Given the description of an element on the screen output the (x, y) to click on. 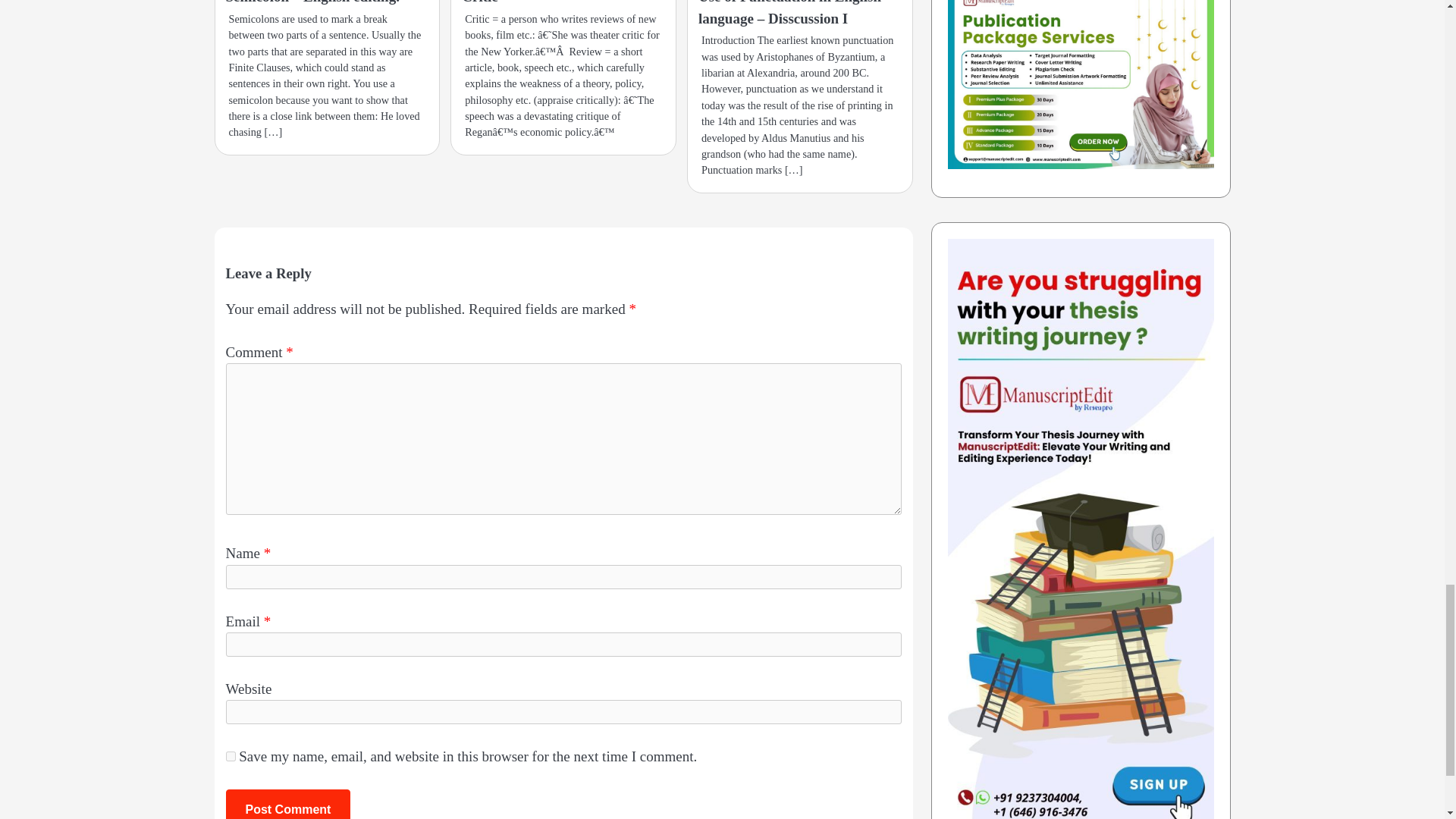
Post Comment (287, 804)
yes (230, 756)
Critic (479, 2)
Post Comment (287, 804)
